Given the description of an element on the screen output the (x, y) to click on. 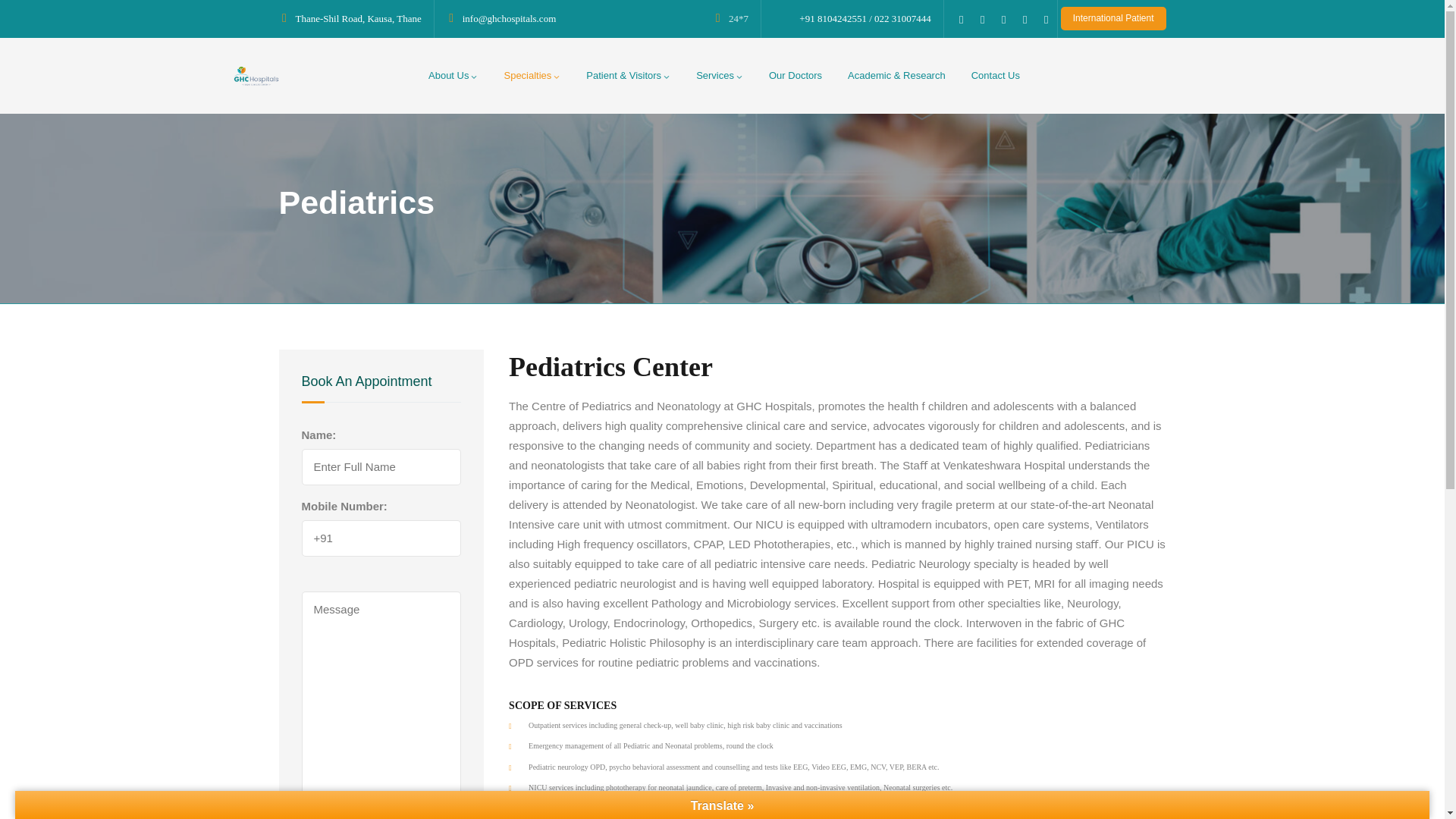
022 31007444 (901, 18)
Thane-Shil Road, Kausa, Thane (358, 18)
Specialties (531, 75)
International Patient (1113, 18)
About Us (452, 75)
